Given the description of an element on the screen output the (x, y) to click on. 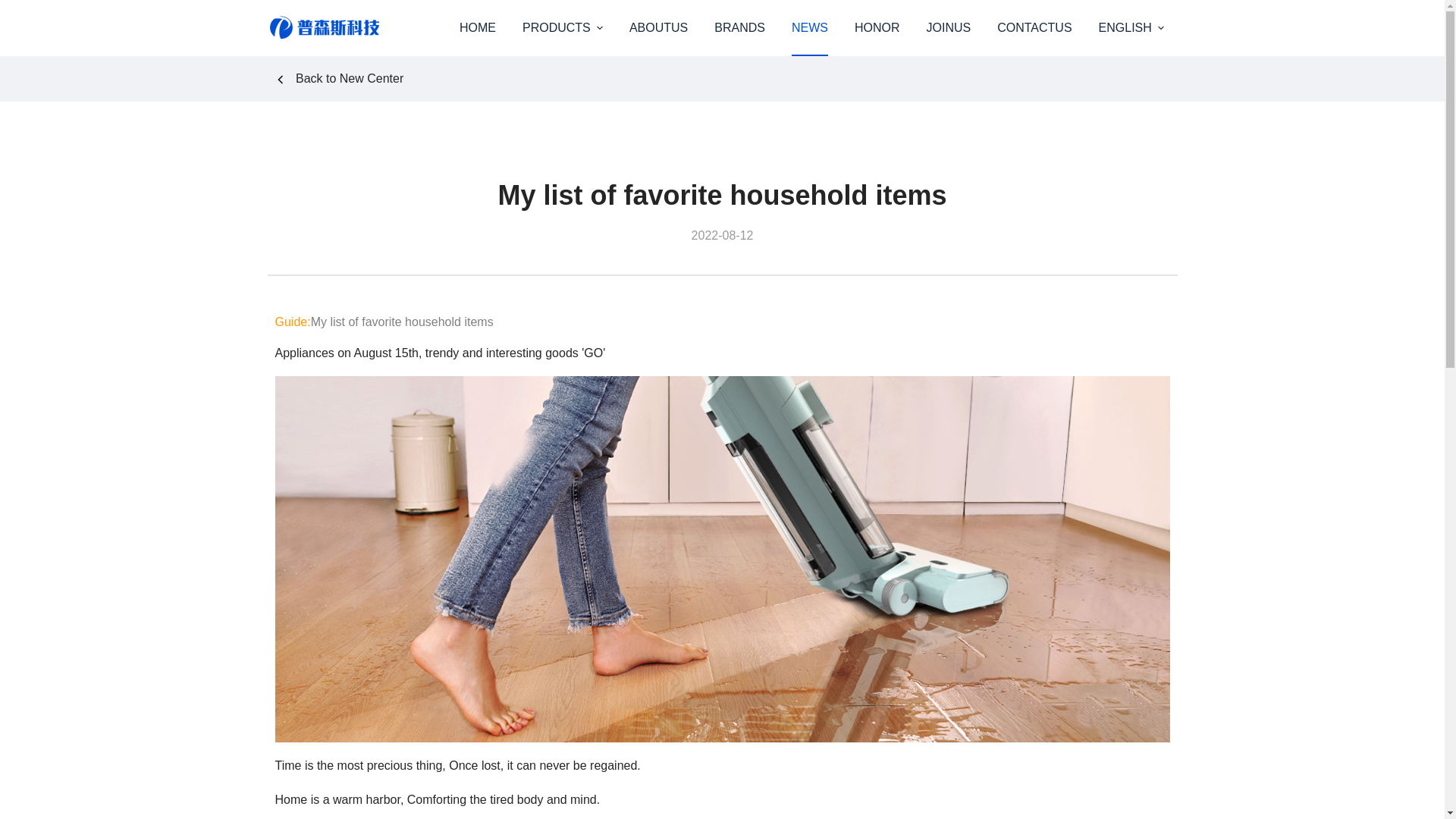
HONOR (876, 28)
NEWS (809, 28)
Skip to content (15, 7)
ABOUTUS (657, 28)
JOINUS (948, 28)
BRANDS (739, 28)
My list of favorite household items (721, 194)
ENGLISH (1130, 28)
CONTACTUS (1034, 28)
PRODUCTS (561, 28)
HOME (476, 28)
